Given the description of an element on the screen output the (x, y) to click on. 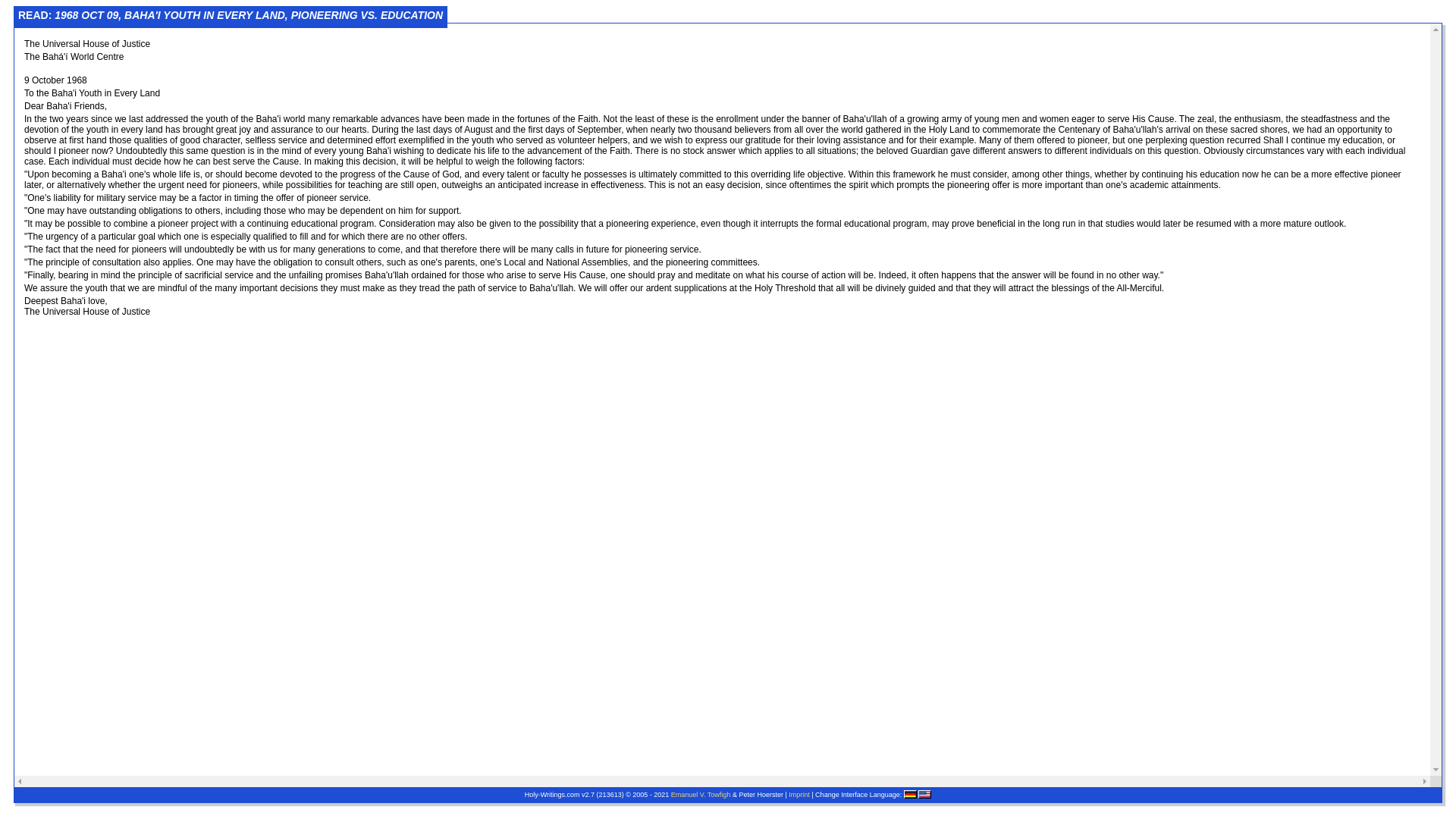
Imprint (799, 794)
DE (910, 794)
EN (924, 794)
Emanuel V. Towfigh (700, 794)
